Given the description of an element on the screen output the (x, y) to click on. 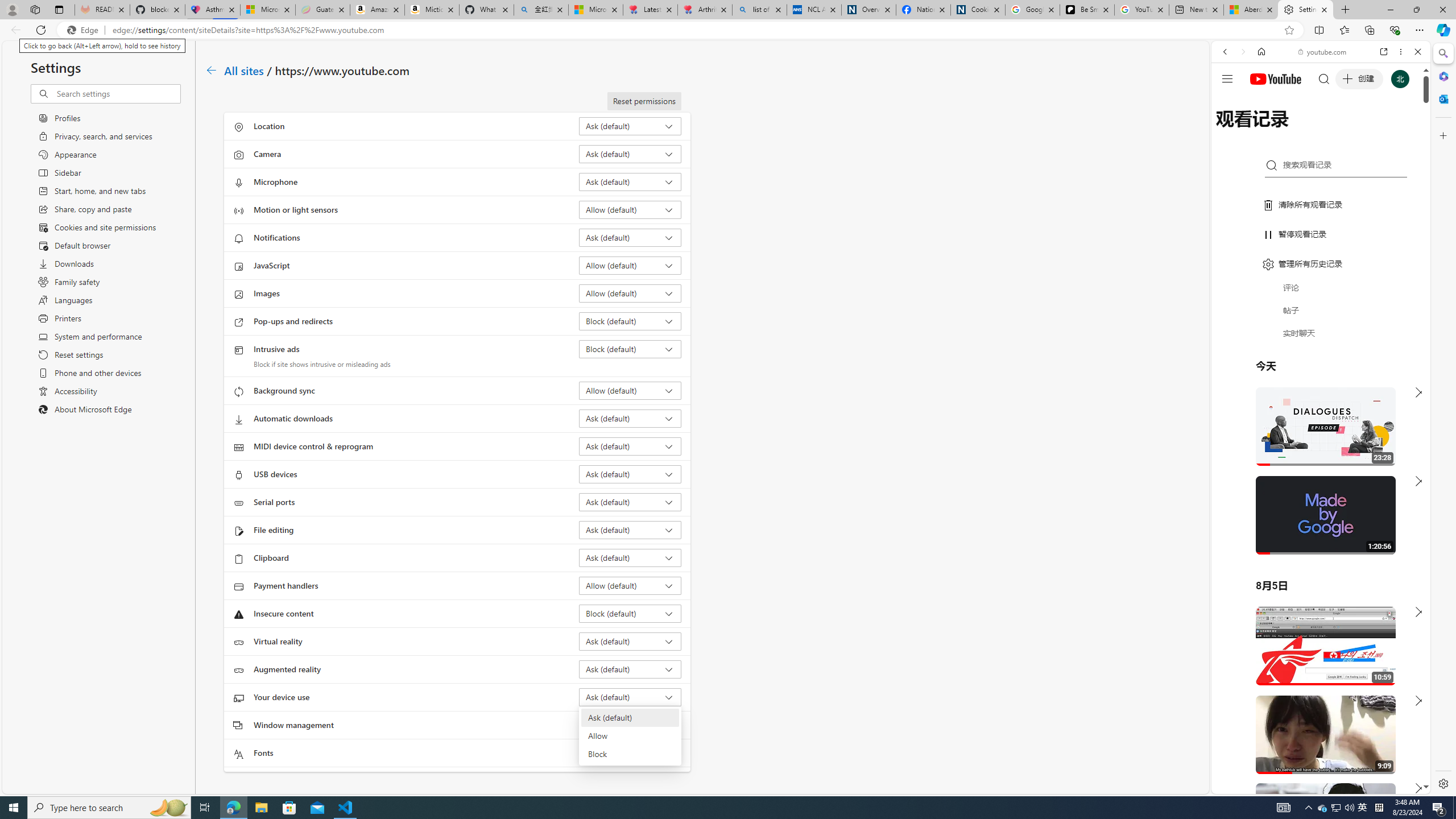
list of asthma inhalers uk - Search (760, 9)
Clipboard Ask (default) (630, 557)
Class: dict_pnIcon rms_img (1312, 784)
This site scope (1259, 102)
Motion or light sensors Allow (default) (630, 209)
Search settings (117, 93)
US[ju] (1249, 785)
